Given the description of an element on the screen output the (x, y) to click on. 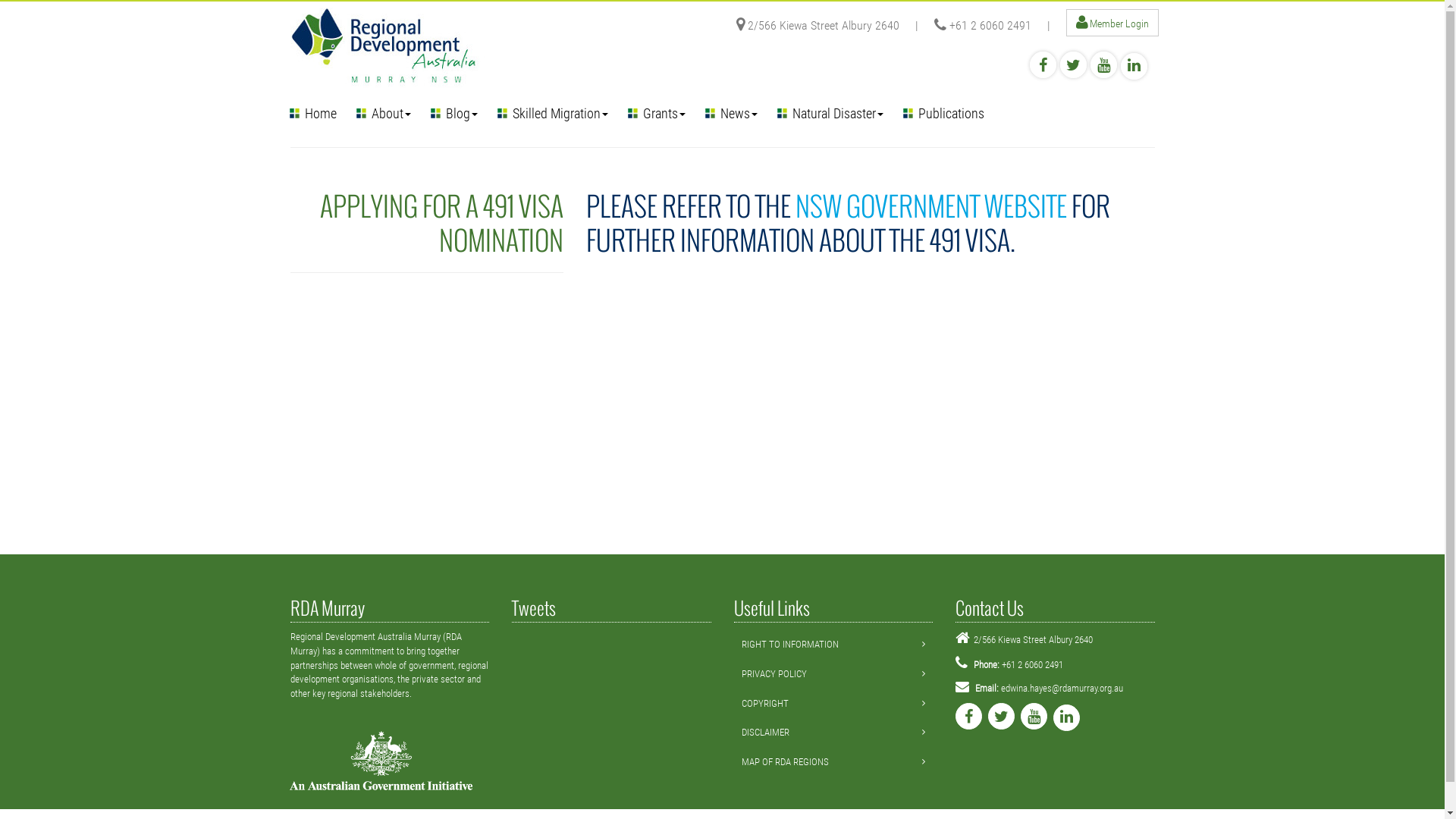
Publications Element type: text (943, 112)
Grants Element type: text (655, 112)
News Element type: text (730, 112)
DISCLAIMER Element type: text (765, 731)
Blog Element type: text (453, 112)
Home Element type: text (312, 112)
About Element type: text (382, 112)
MAP OF RDA REGIONS Element type: text (784, 761)
NSW GOVERNMENT WEBSITE Element type: text (930, 205)
COPYRIGHT Element type: text (764, 703)
Member Login Element type: text (1118, 23)
RIGHT TO INFORMATION Element type: text (789, 643)
Skilled Migration Element type: text (551, 112)
Natural Disaster Element type: text (830, 112)
PRIVACY POLICY Element type: text (773, 673)
